Given the description of an element on the screen output the (x, y) to click on. 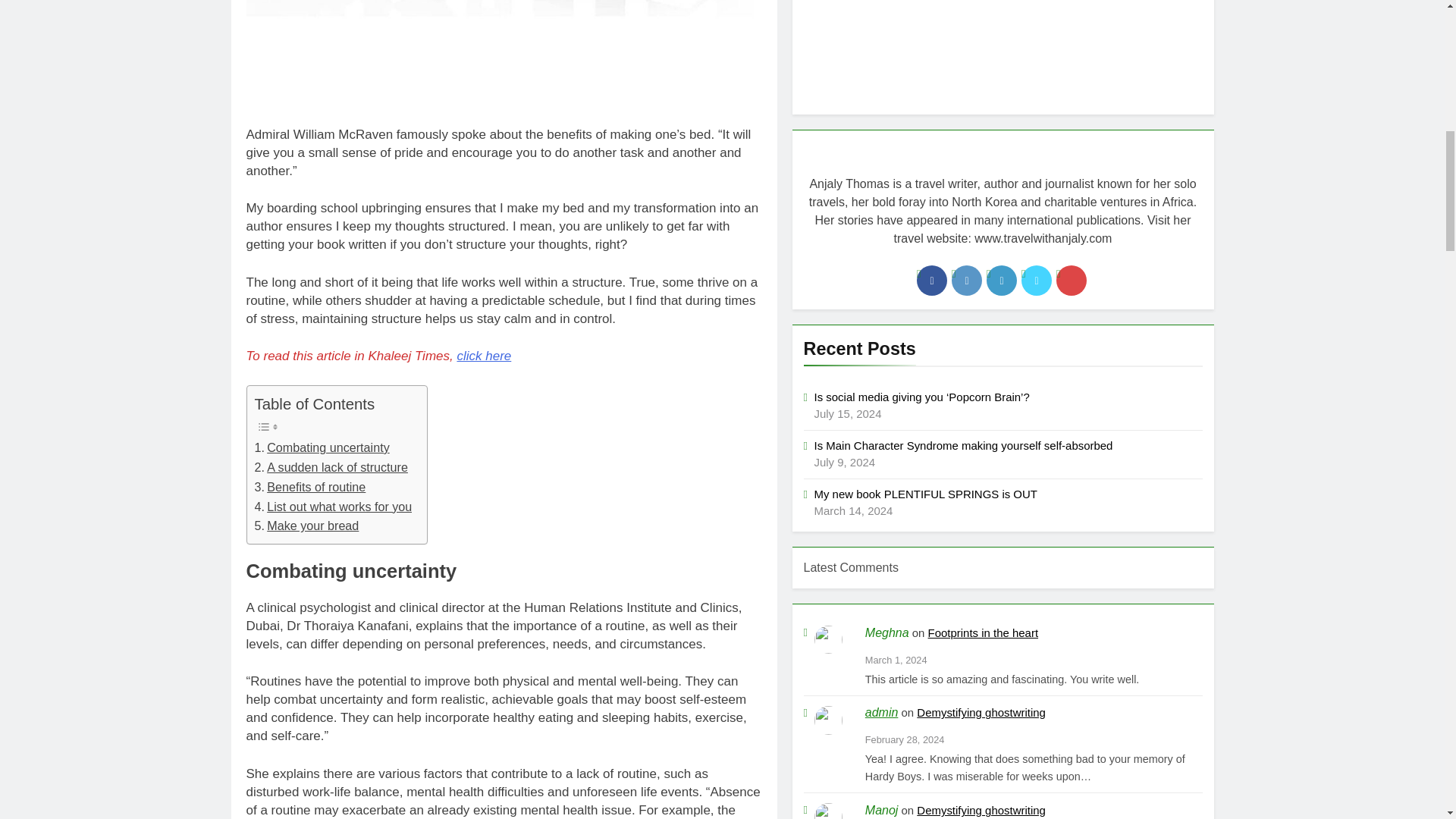
LinkedIn (1001, 280)
A sudden lack of structure (330, 467)
A sudden lack of structure (330, 467)
Facebook (932, 280)
Make your bread (306, 526)
Benefits of routine (310, 487)
Youtube (1071, 280)
Benefits of routine (310, 487)
Twitter (1036, 280)
Instagram (966, 280)
